Given the description of an element on the screen output the (x, y) to click on. 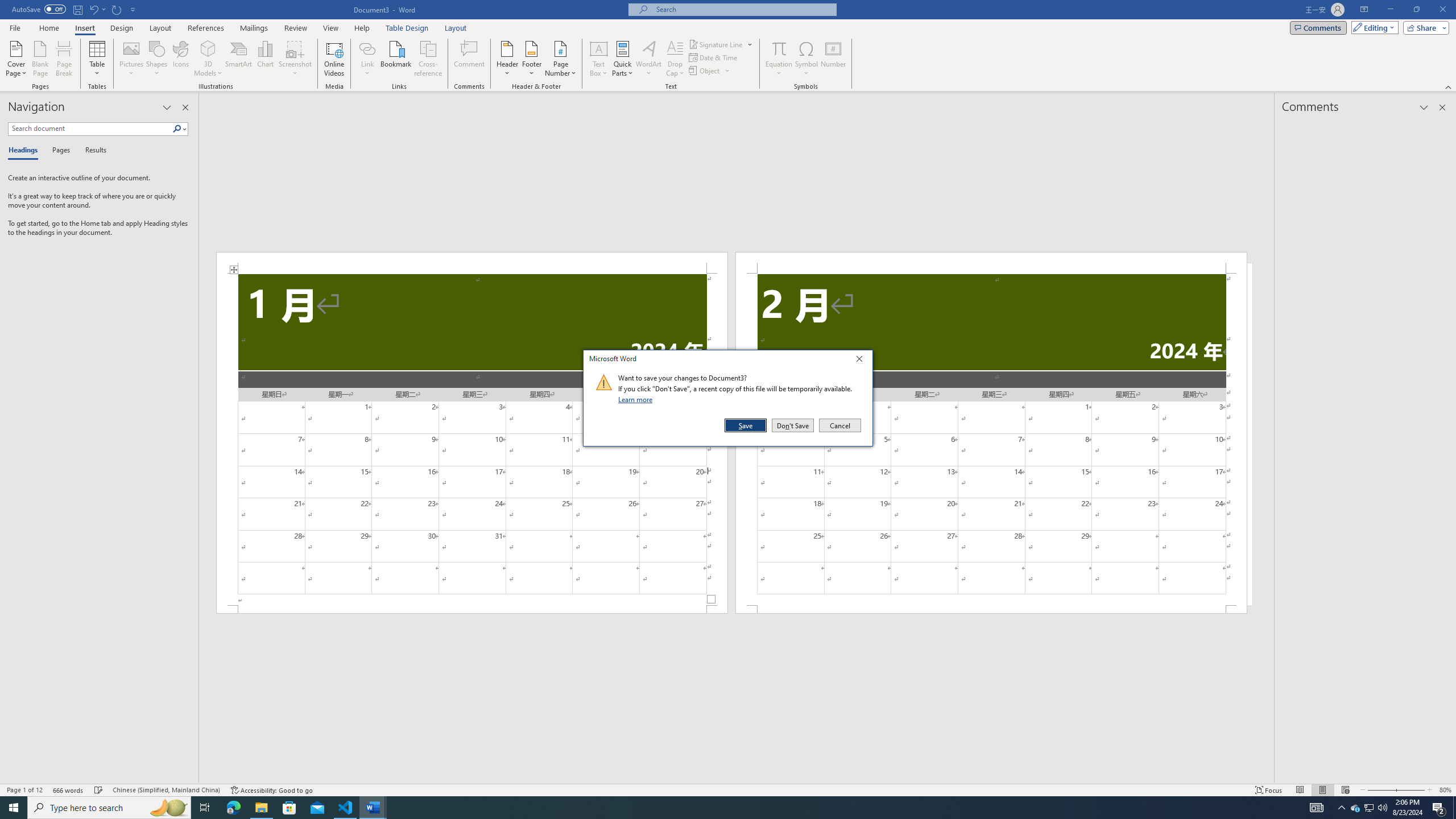
Header (507, 58)
Pictures (131, 58)
Cover Page (16, 58)
Microsoft search (742, 9)
Header -Section 2- (991, 263)
Symbol (806, 58)
Screenshot (295, 58)
Word Count 666 words (68, 790)
Undo Increase Indent (92, 9)
